Given the description of an element on the screen output the (x, y) to click on. 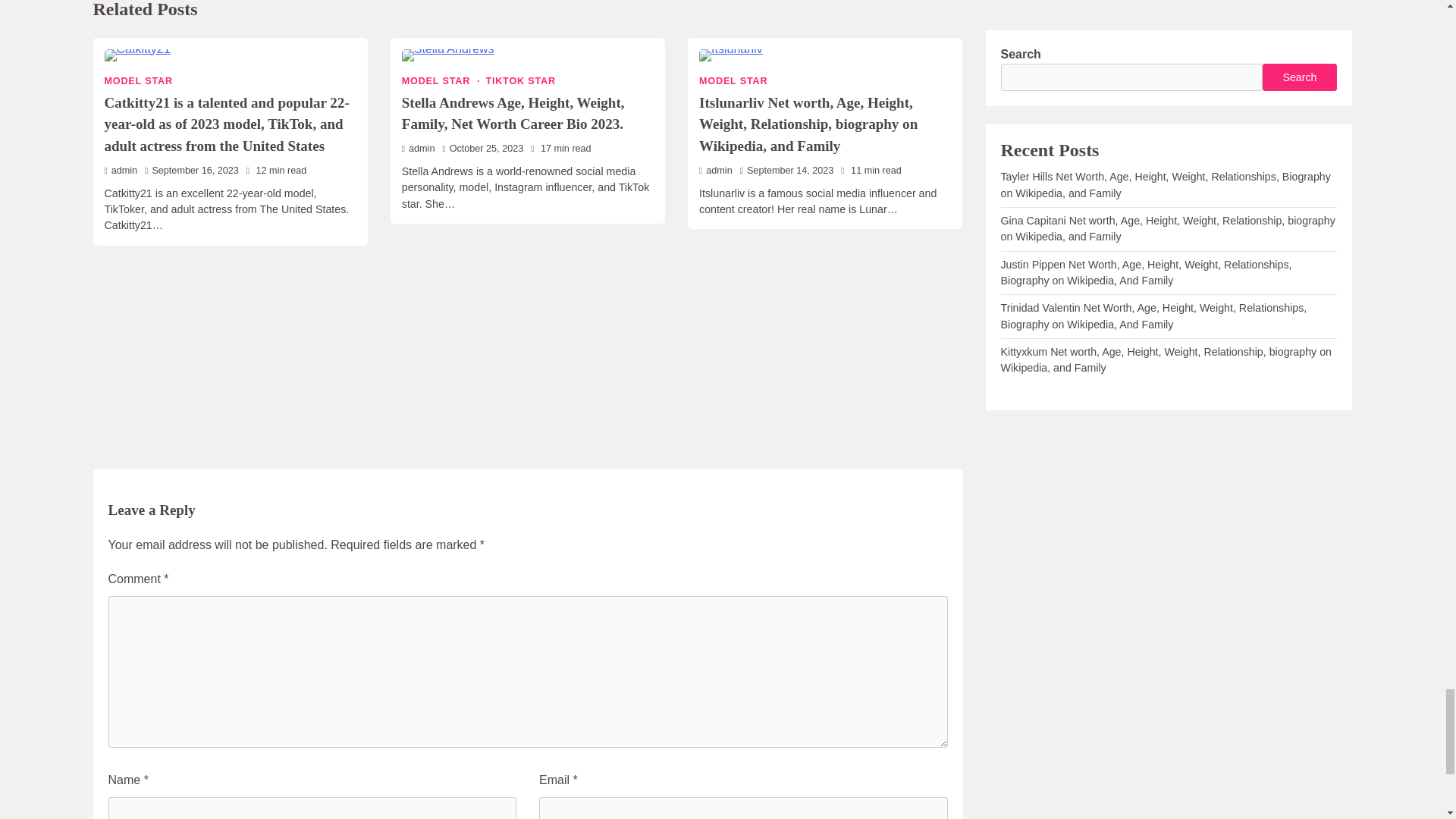
admin (715, 170)
admin (121, 170)
admin (418, 148)
TIKTOK STAR (520, 81)
MODEL STAR (138, 81)
MODEL STAR (732, 81)
MODEL STAR (440, 81)
